Given the description of an element on the screen output the (x, y) to click on. 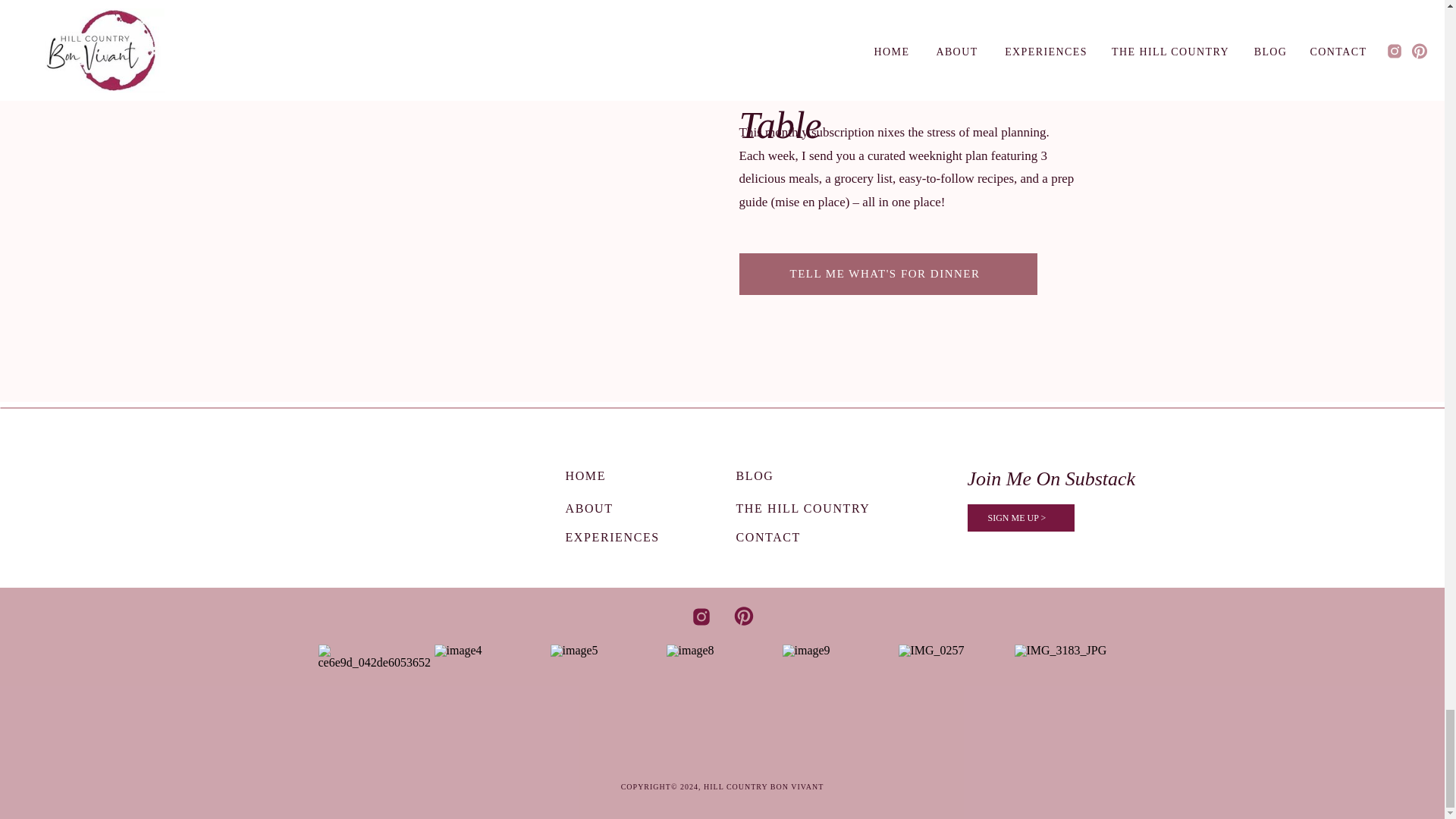
THE HILL COUNTRY (807, 505)
CONTACT (807, 534)
BLOG (807, 473)
EXPERIENCES (630, 534)
image9 (839, 700)
ABOUT (611, 505)
image8 (721, 700)
TELL ME WHAT'S FOR DINNER (884, 275)
HOME (611, 473)
image5 (606, 700)
